Given the description of an element on the screen output the (x, y) to click on. 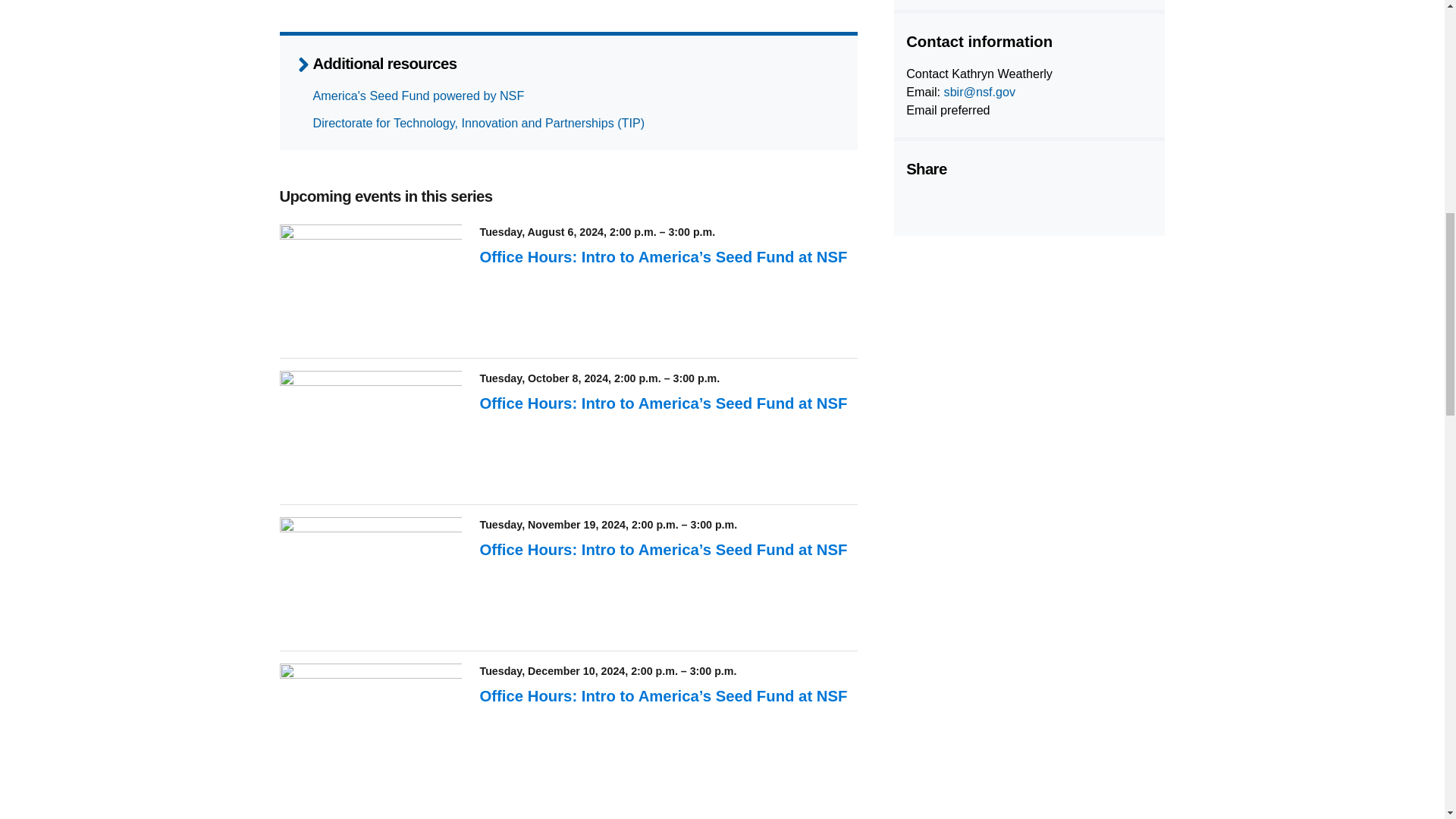
Facebook (917, 204)
LinkedIn (992, 204)
Email (1030, 204)
America's Seed Fund powered by NSF (418, 95)
